Given the description of an element on the screen output the (x, y) to click on. 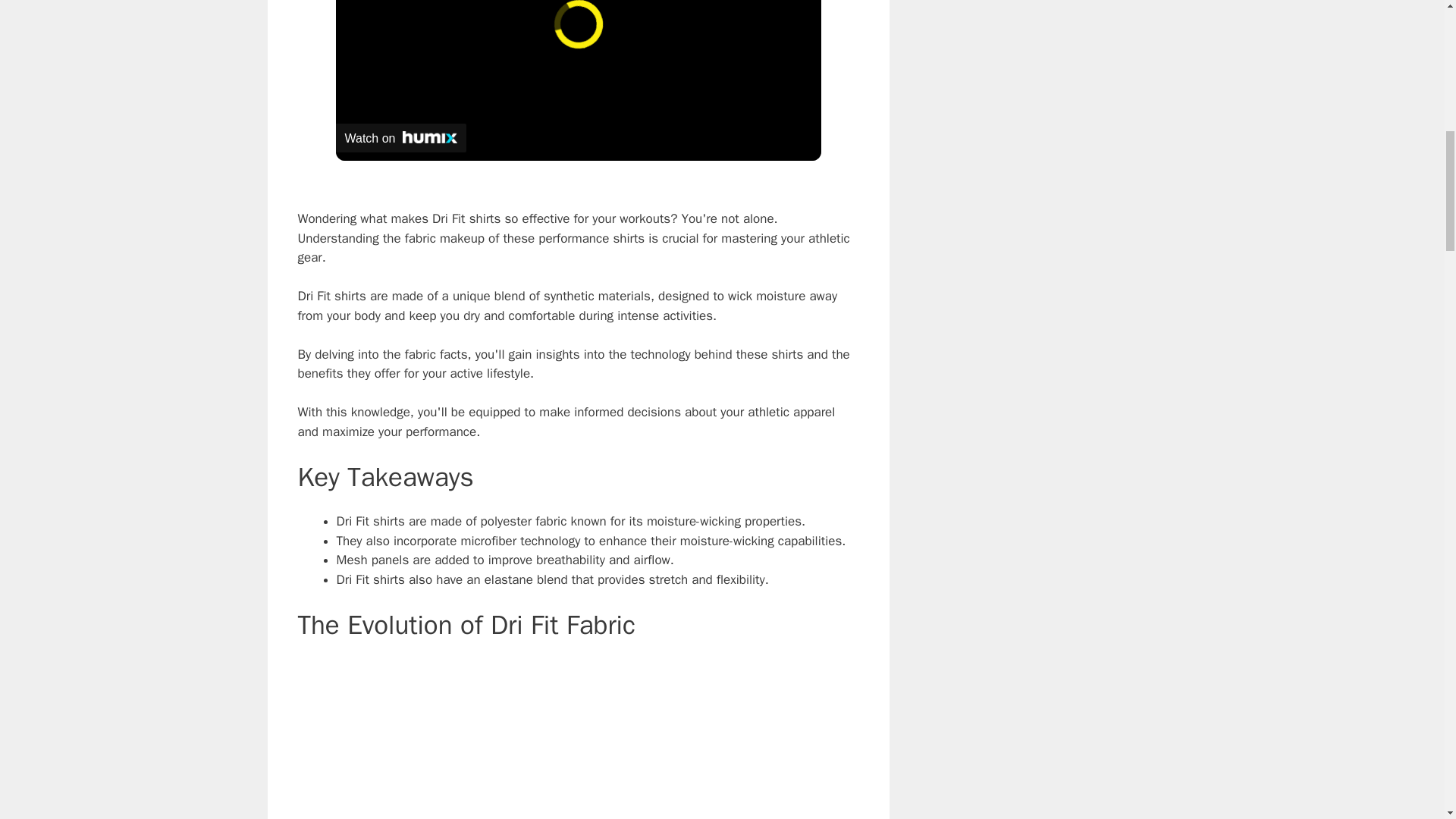
Watch on (399, 137)
Scroll back to top (1406, 720)
YouTube video player (578, 739)
